Given the description of an element on the screen output the (x, y) to click on. 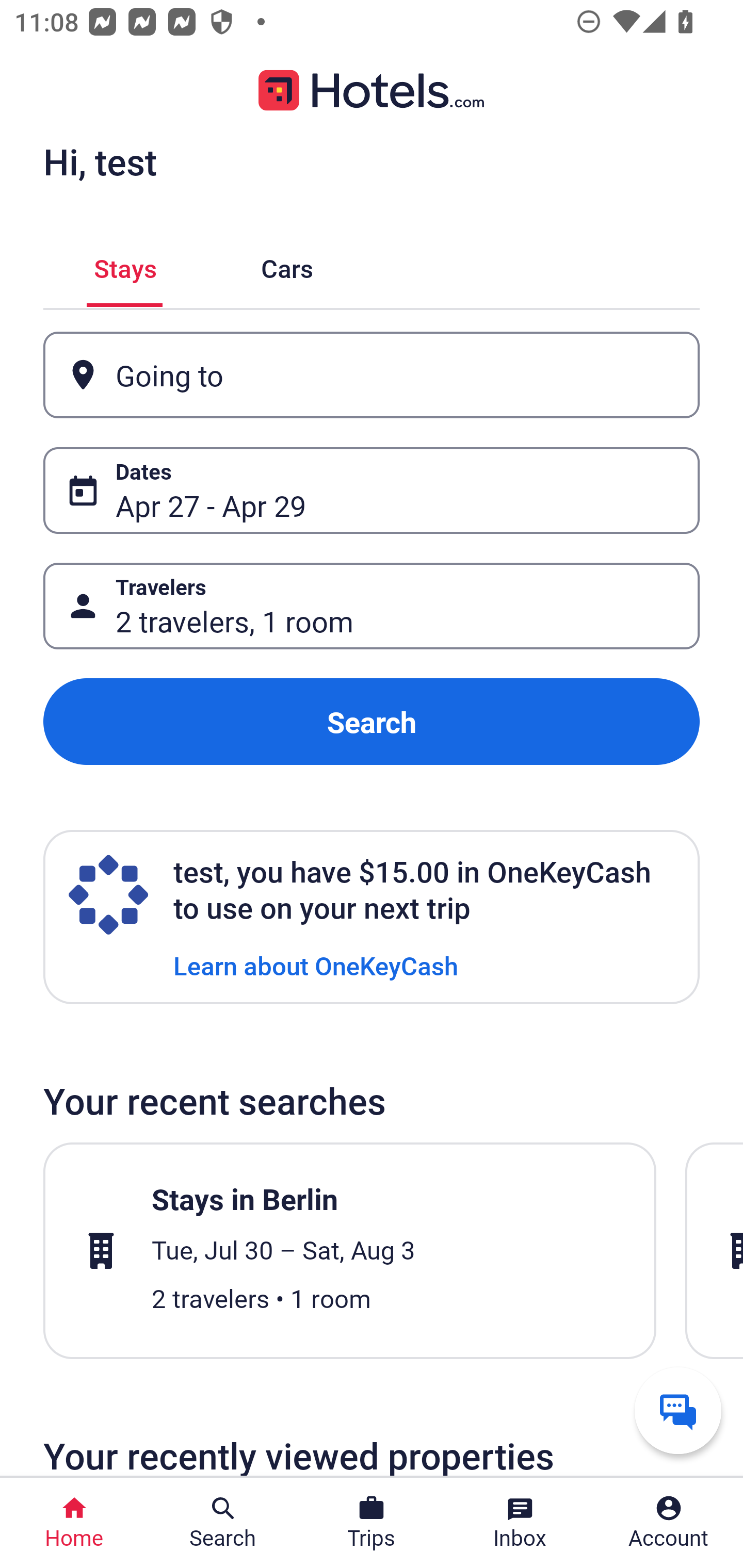
Hi, test (99, 161)
Cars (286, 265)
Going to Button (371, 375)
Dates Button Apr 27 - Apr 29 (371, 489)
Travelers Button 2 travelers, 1 room (371, 605)
Search (371, 721)
Learn about OneKeyCash Learn about OneKeyCash Link (315, 964)
Get help from a virtual agent (677, 1410)
Search Search Button (222, 1522)
Trips Trips Button (371, 1522)
Inbox Inbox Button (519, 1522)
Account Profile. Button (668, 1522)
